Given the description of an element on the screen output the (x, y) to click on. 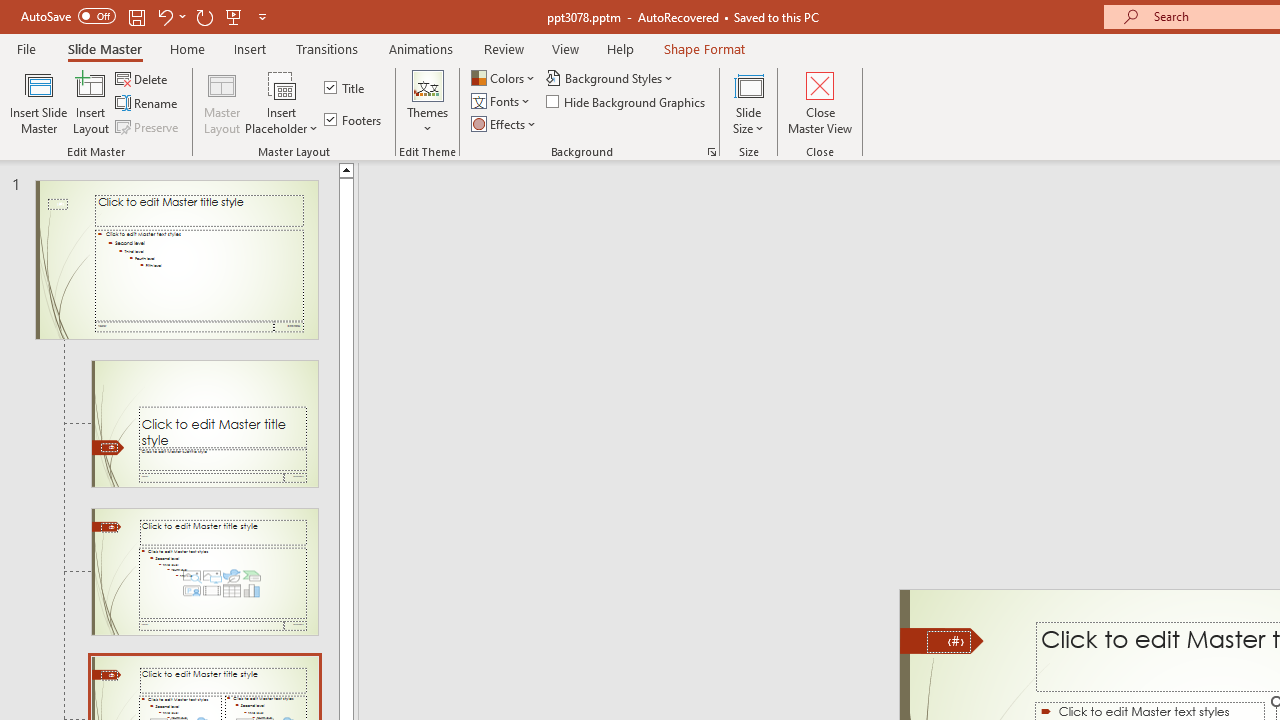
Insert Slide Master (38, 102)
Slide Master (104, 48)
Footers (354, 119)
Fonts (502, 101)
Freeform 11 (941, 640)
